Given the description of an element on the screen output the (x, y) to click on. 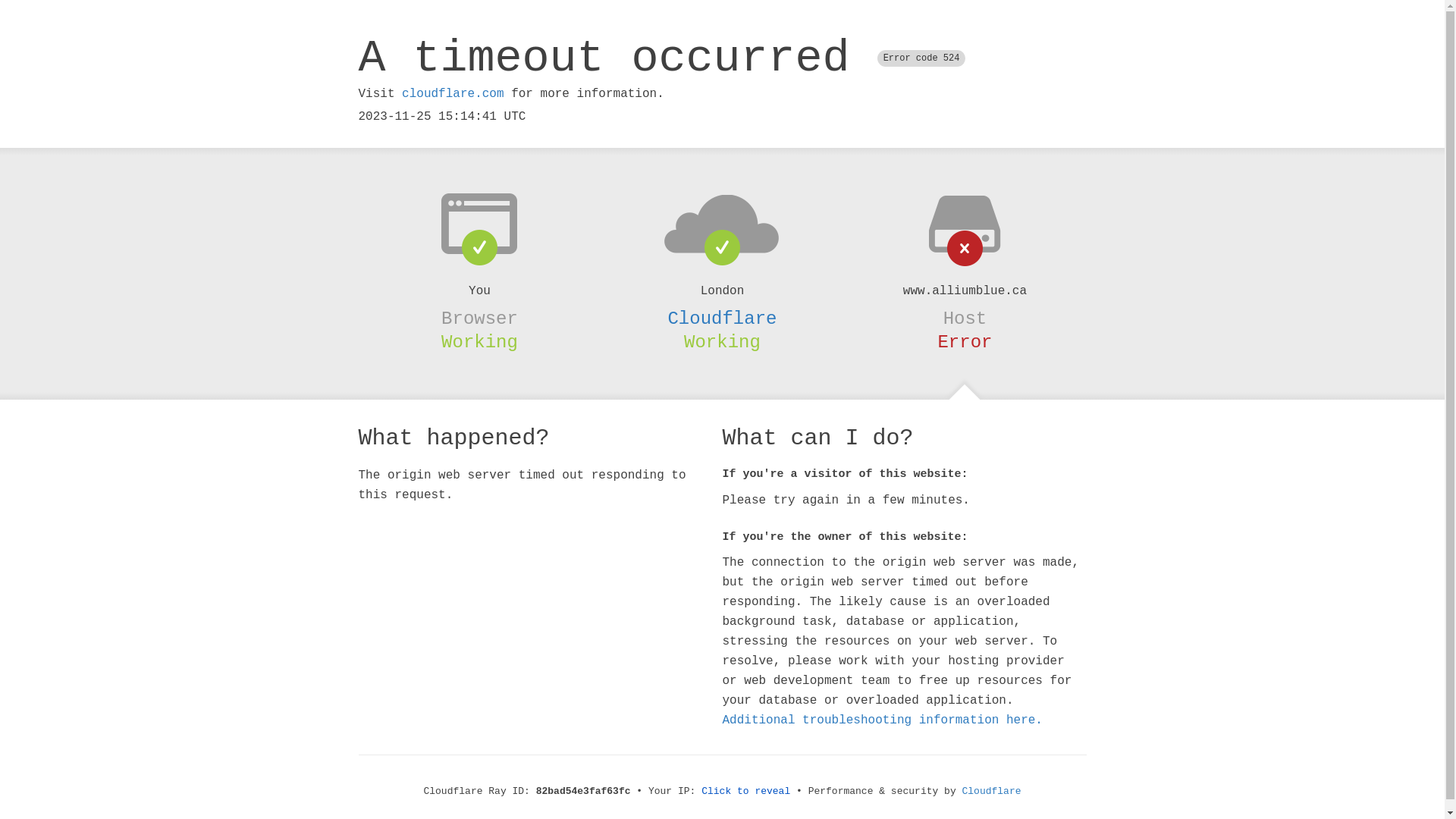
Click to reveal Element type: text (745, 791)
Cloudflare Element type: text (991, 791)
Additional troubleshooting information here. Element type: text (881, 720)
cloudflare.com Element type: text (452, 93)
Cloudflare Element type: text (721, 318)
